Given the description of an element on the screen output the (x, y) to click on. 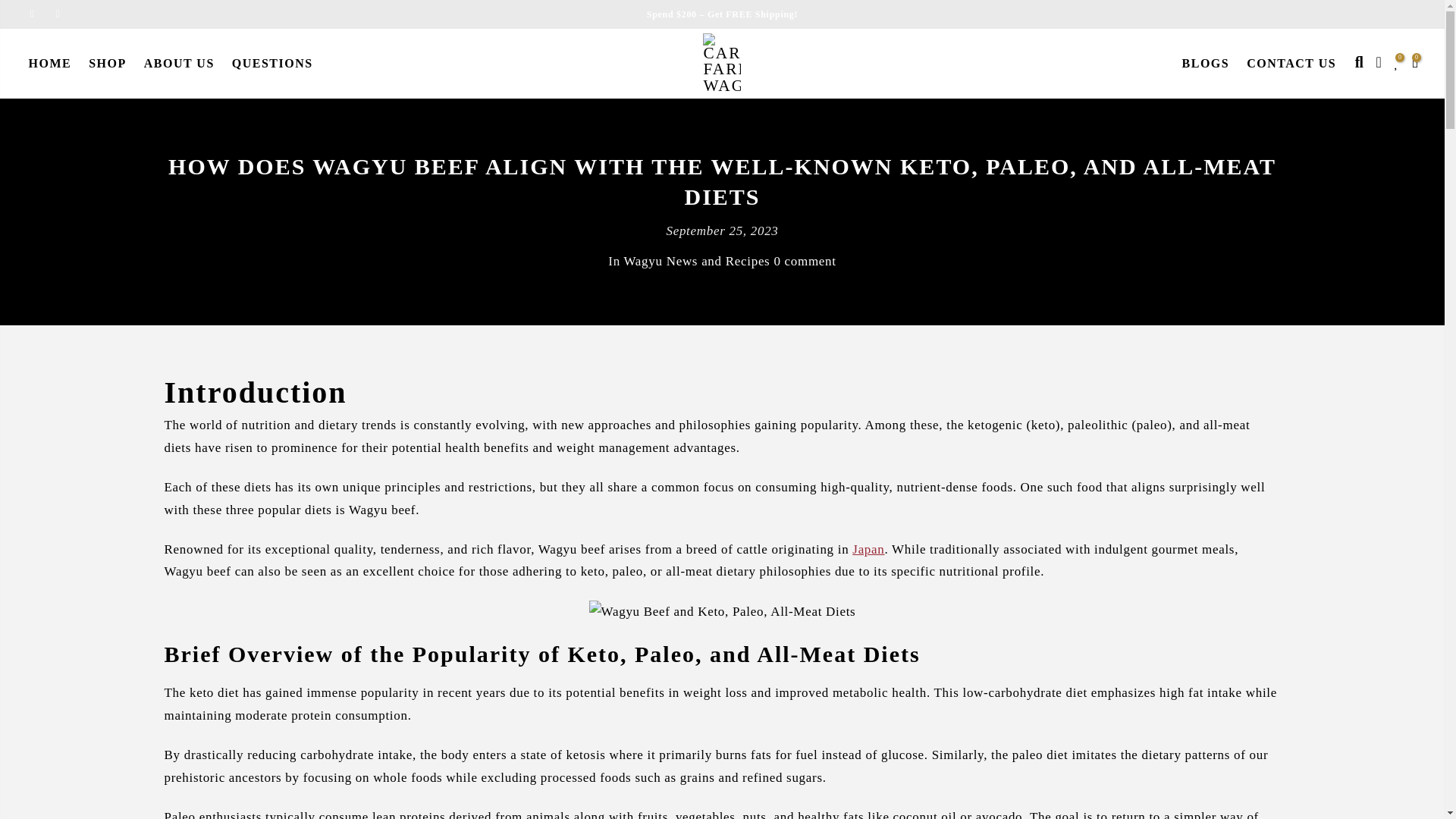
QUESTIONS (271, 63)
CONTACT US (1292, 63)
Wagyu News and Recipes (696, 260)
SHOP (107, 63)
Japan (867, 549)
0 comment (804, 260)
HOME (50, 63)
BLOGS (1206, 63)
ABOUT US (178, 63)
